Given the description of an element on the screen output the (x, y) to click on. 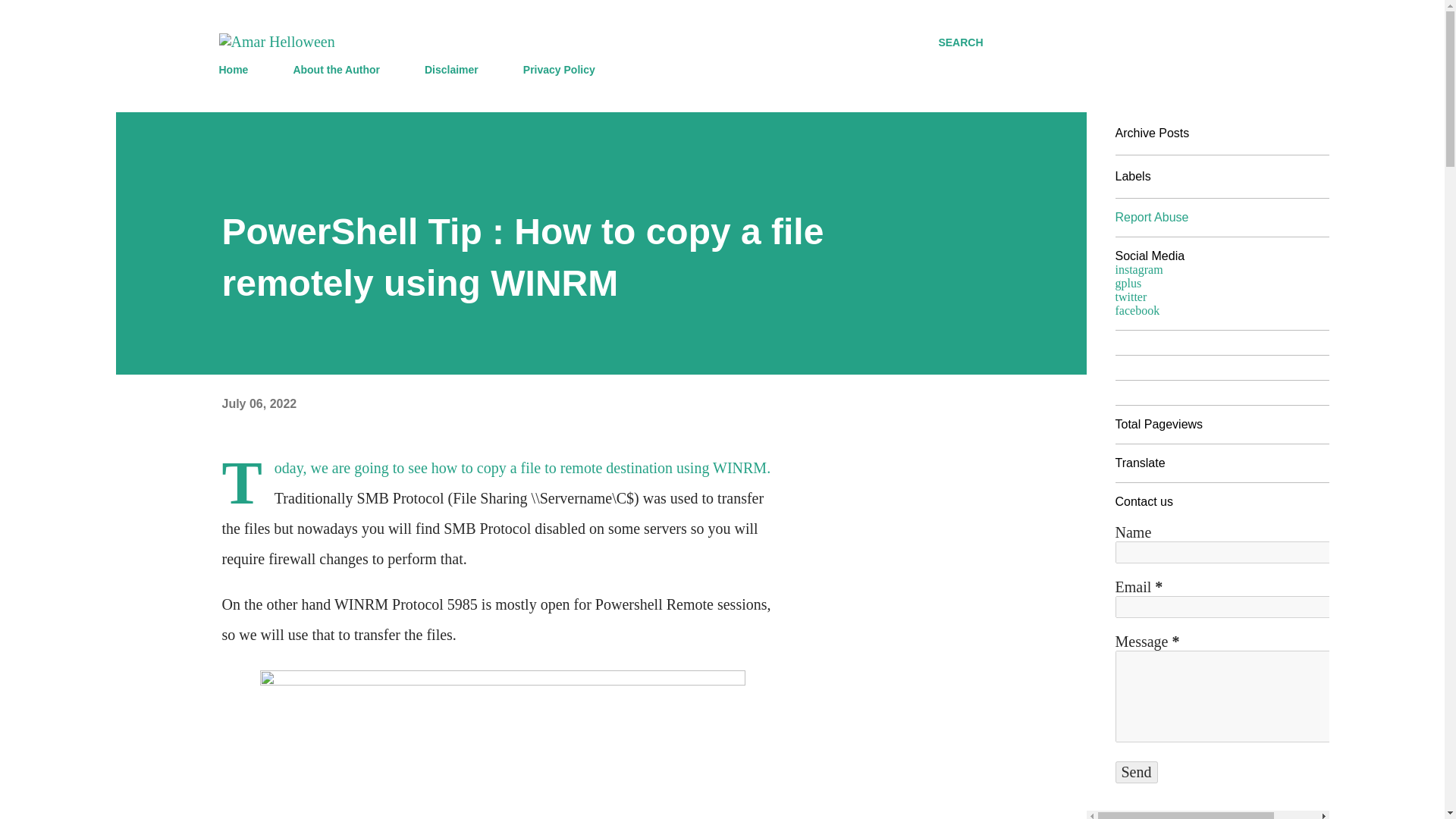
About the Author (335, 69)
permanent link (259, 403)
July 06, 2022 (259, 403)
Send (1136, 771)
Privacy Policy (558, 69)
Home (237, 69)
SEARCH (959, 42)
Disclaimer (450, 69)
